Given the description of an element on the screen output the (x, y) to click on. 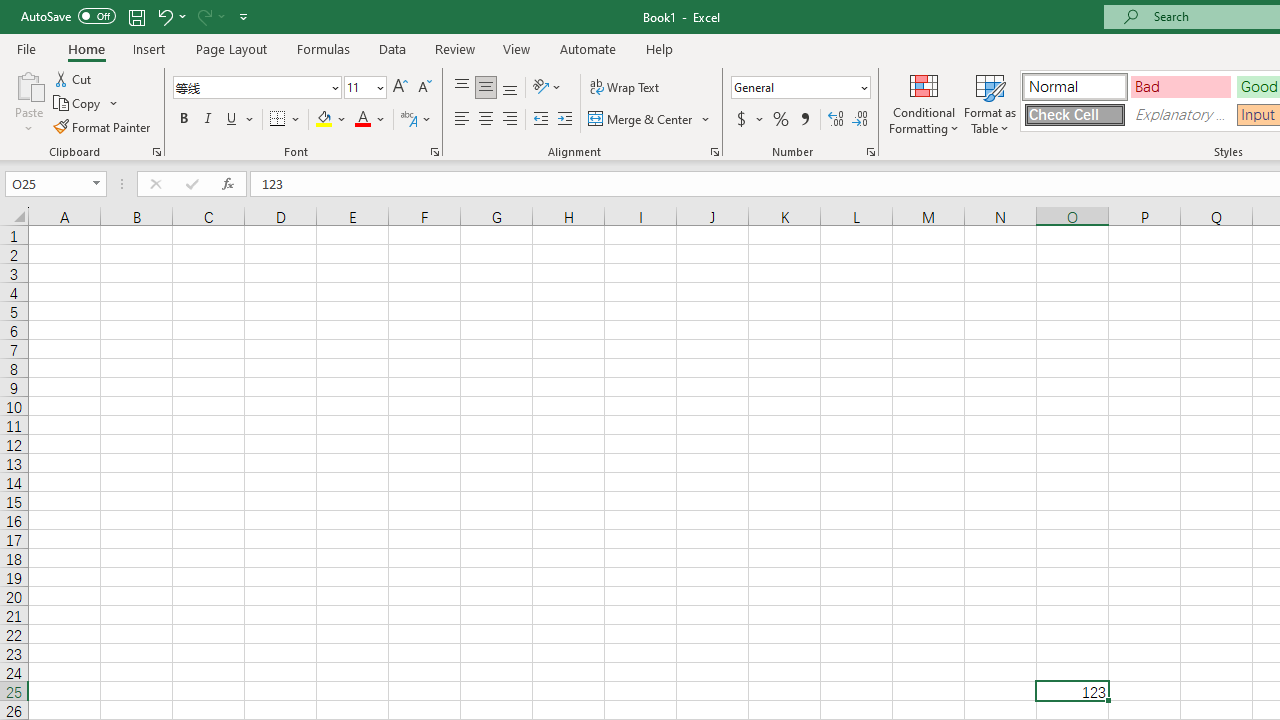
Increase Font Size (399, 87)
Decrease Font Size (424, 87)
Review (454, 48)
Format Painter (103, 126)
Save (136, 15)
Home (86, 48)
Formulas (323, 48)
Show Phonetic Field (416, 119)
View (517, 48)
Italic (207, 119)
Copy (85, 103)
Customize Quick Access Toolbar (244, 15)
Format as Table (990, 102)
